Given the description of an element on the screen output the (x, y) to click on. 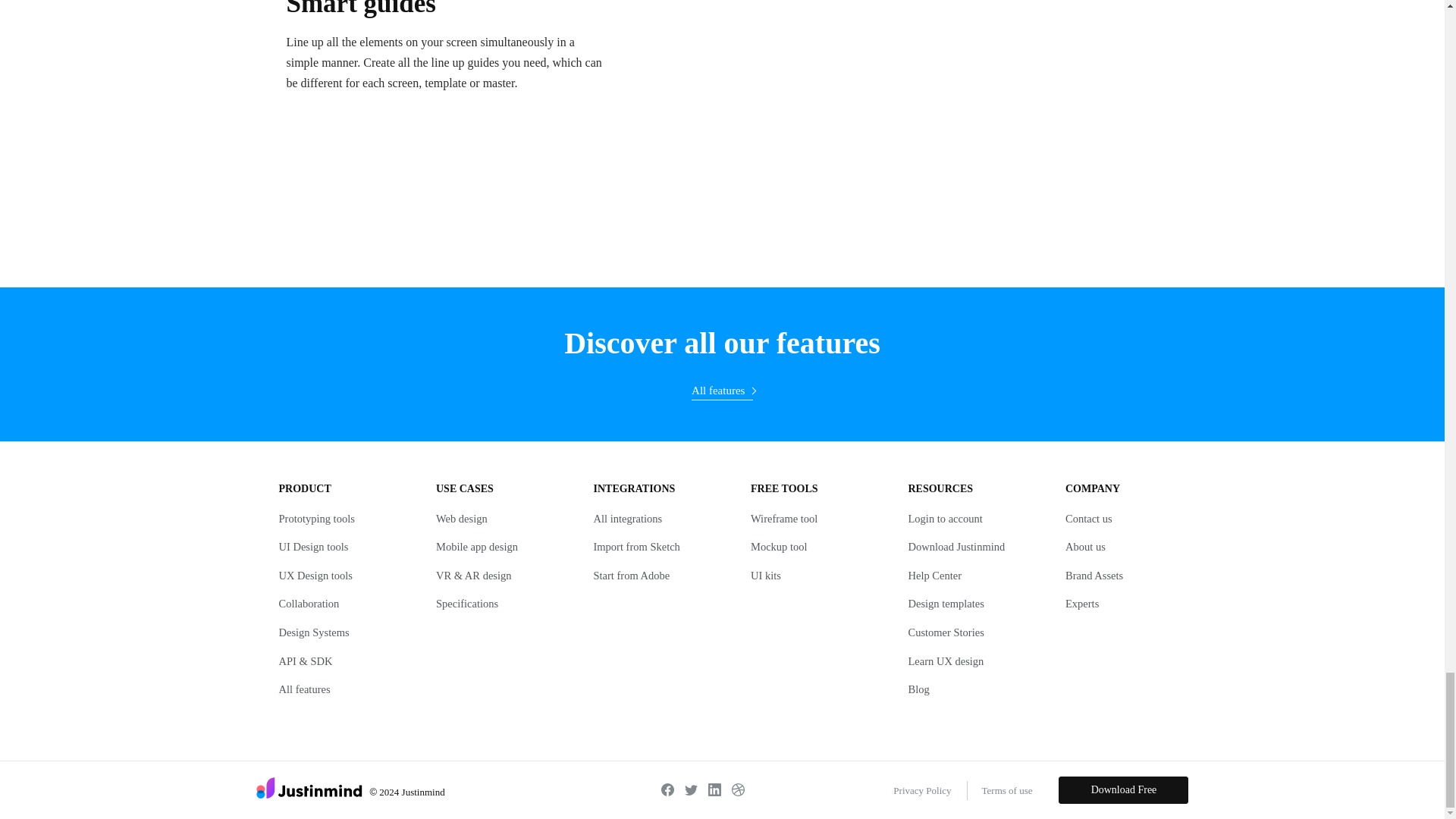
Design Systems (314, 632)
justinmind-logo (309, 788)
UI Design tools (314, 546)
All integrations (627, 518)
Collaboration (309, 603)
Specifications (466, 603)
All features (721, 391)
Mobile app design (476, 546)
Web design (461, 518)
UX Design tools (315, 575)
